Given the description of an element on the screen output the (x, y) to click on. 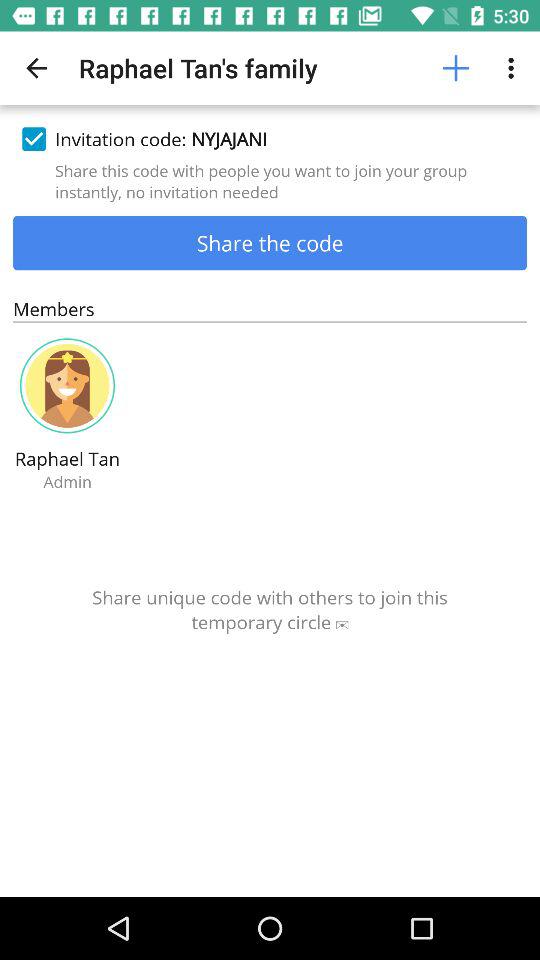
turn off the item above invitation code: nyjajani item (513, 67)
